Given the description of an element on the screen output the (x, y) to click on. 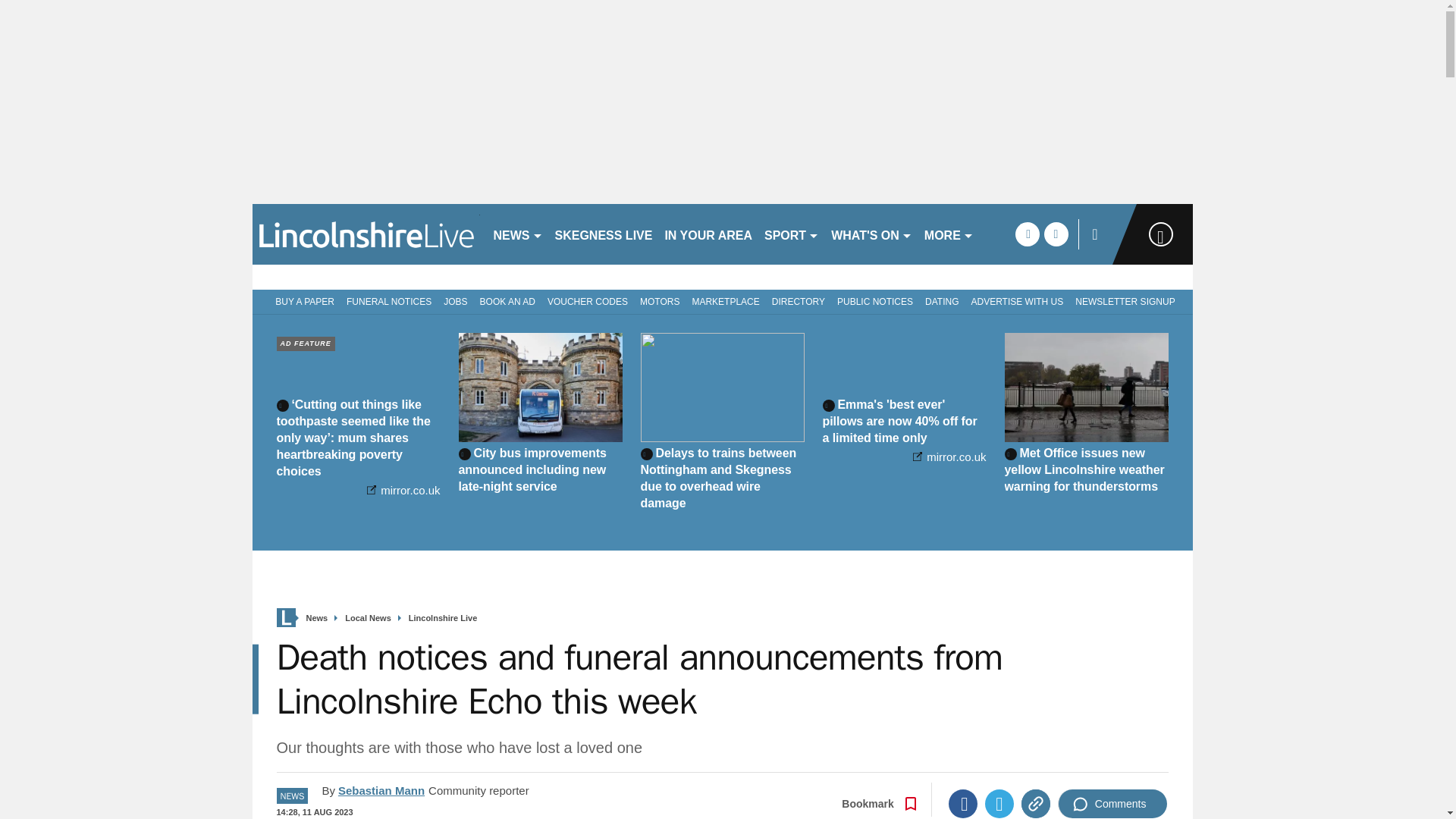
MORE (948, 233)
twitter (1055, 233)
BUY A PAPER (301, 300)
lincolnshirelive (365, 233)
Twitter (999, 803)
Comments (1112, 803)
SPORT (791, 233)
facebook (1026, 233)
SKEGNESS LIVE (603, 233)
NEWS (517, 233)
